Given the description of an element on the screen output the (x, y) to click on. 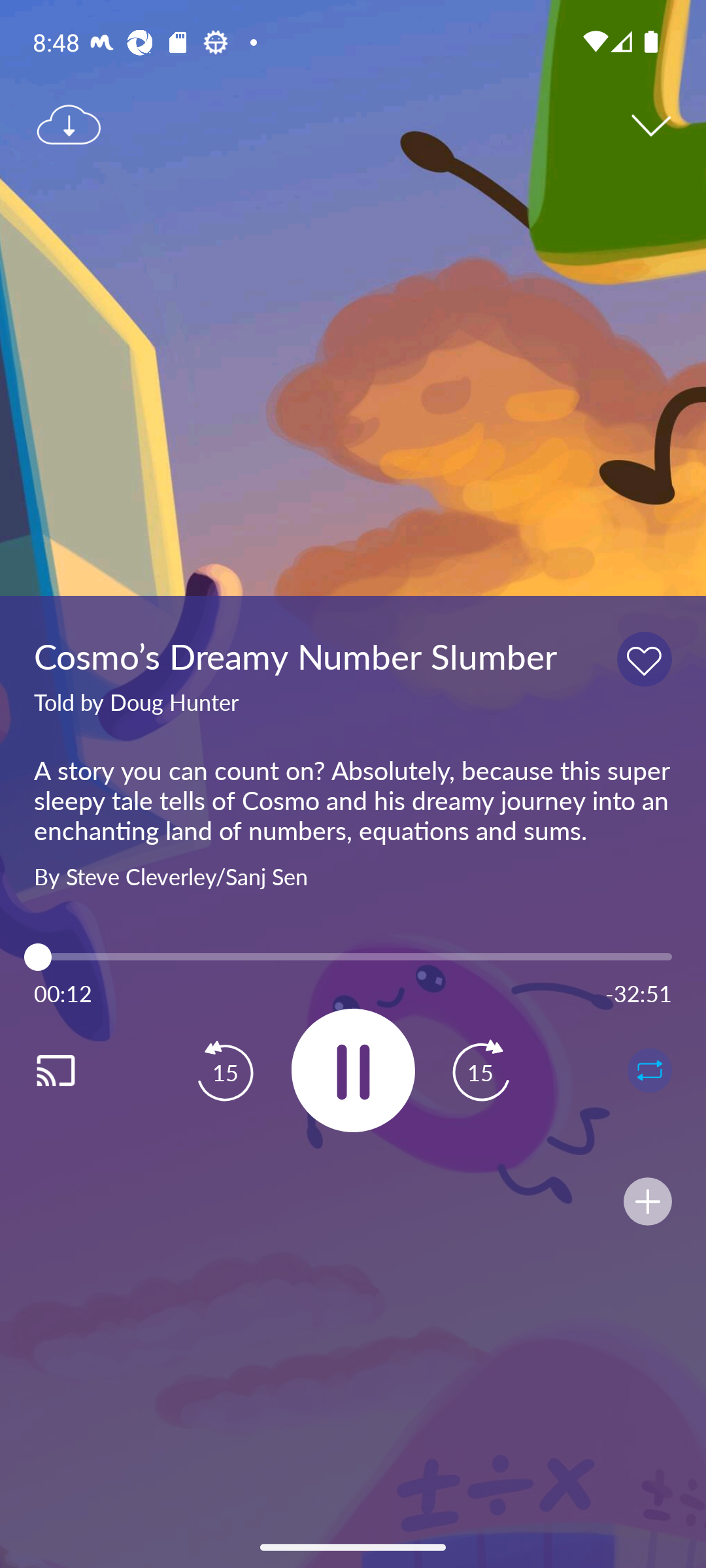
12.0 (352, 956)
Cast. Disconnected (76, 1070)
